Given the description of an element on the screen output the (x, y) to click on. 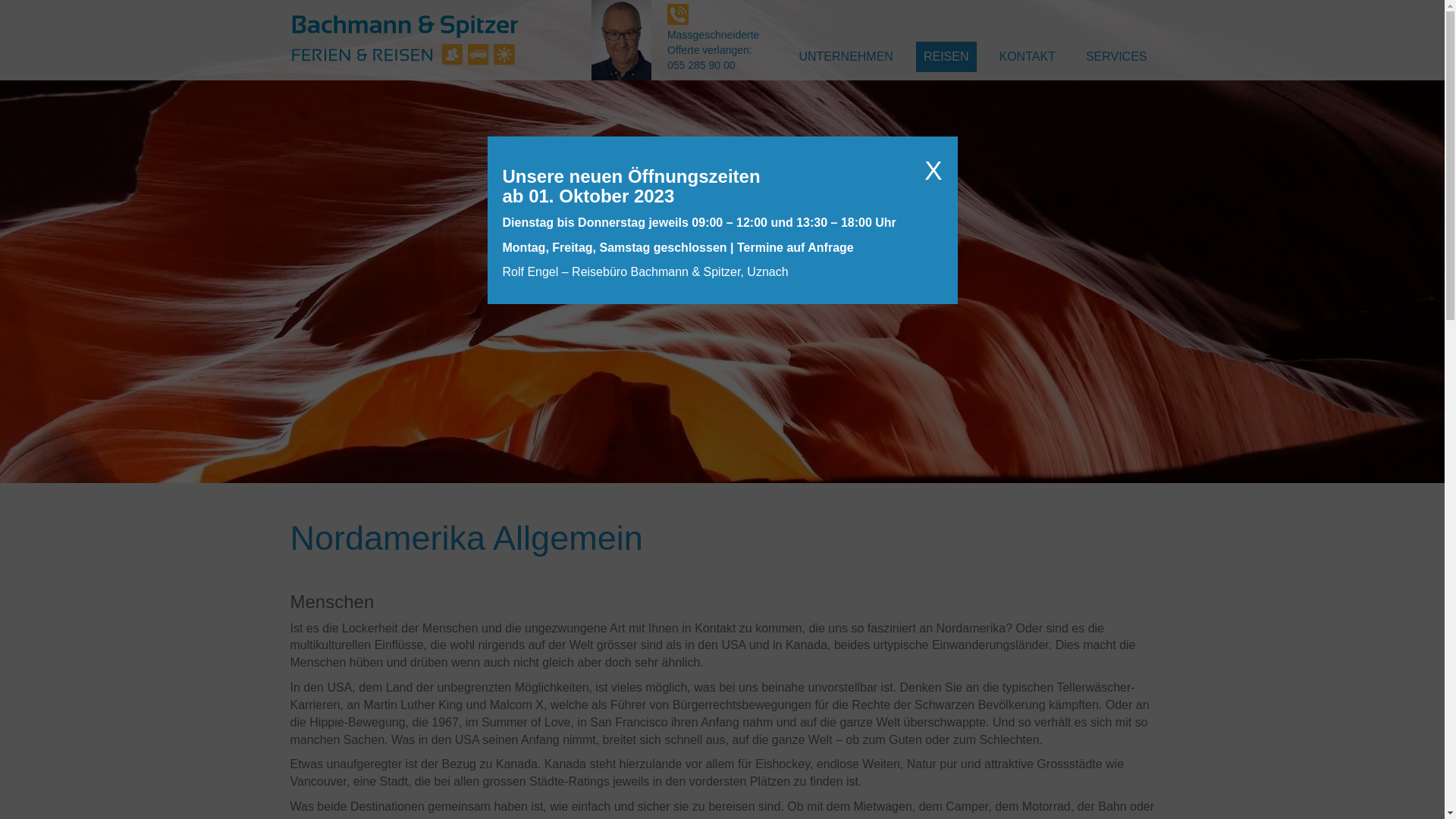
KONTAKT Element type: text (1027, 56)
UNTERNEHMEN Element type: text (845, 56)
SERVICES Element type: text (1116, 56)
REISEN Element type: text (946, 56)
Massgeschneiderte
Offerte verlangen:
055 285 90 00 Element type: text (713, 36)
